Given the description of an element on the screen output the (x, y) to click on. 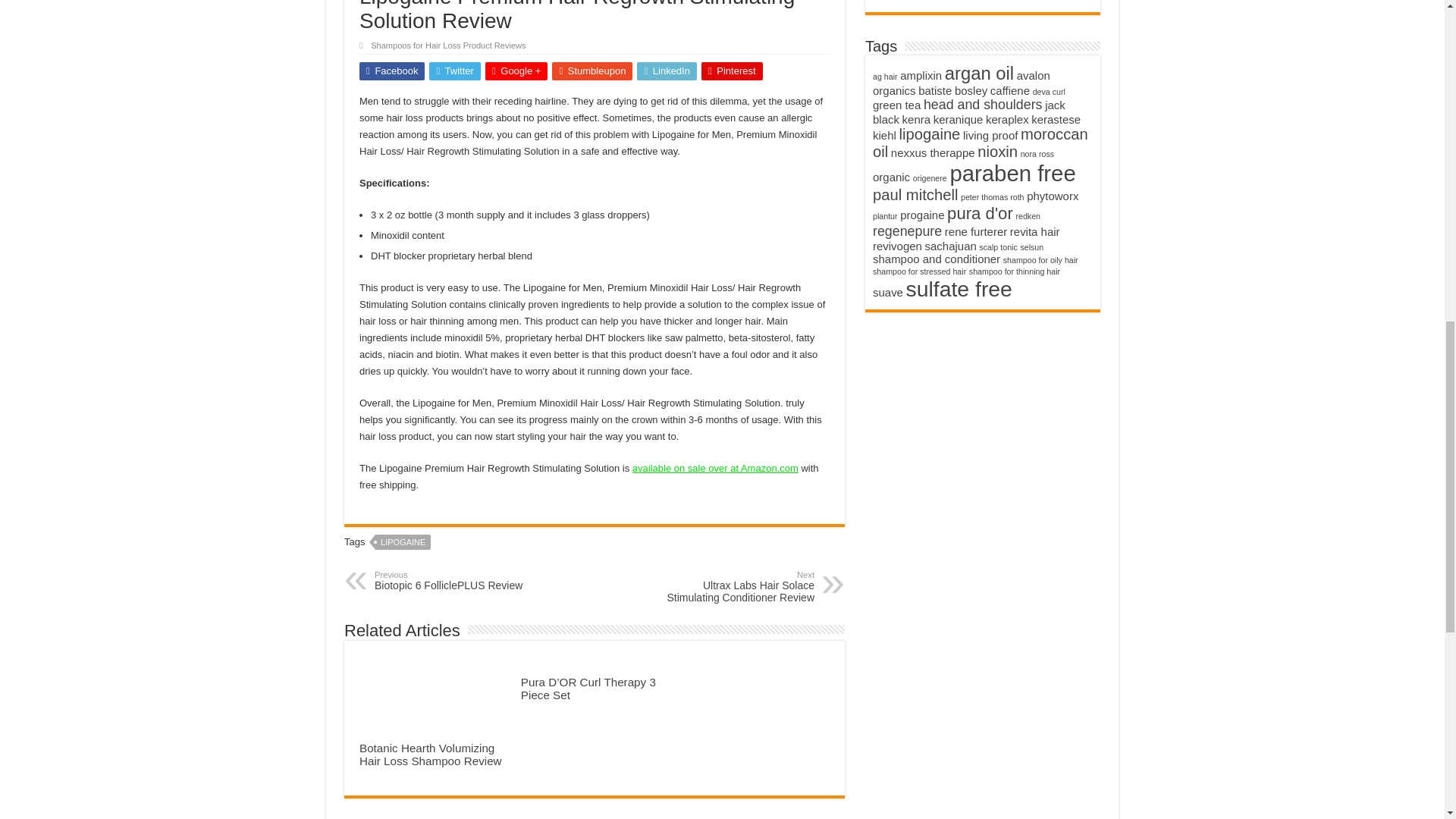
available on sale over at Amazon.com (714, 468)
LIPOGAINE (402, 541)
Stumbleupon (591, 71)
Facebook (392, 71)
LinkedIn (667, 71)
Botanic Hearth Volumizing Hair Loss Shampoo Review (430, 754)
Twitter (454, 71)
Shampoos for Hair Loss Product Reviews (448, 44)
Pinterest (731, 71)
